Given the description of an element on the screen output the (x, y) to click on. 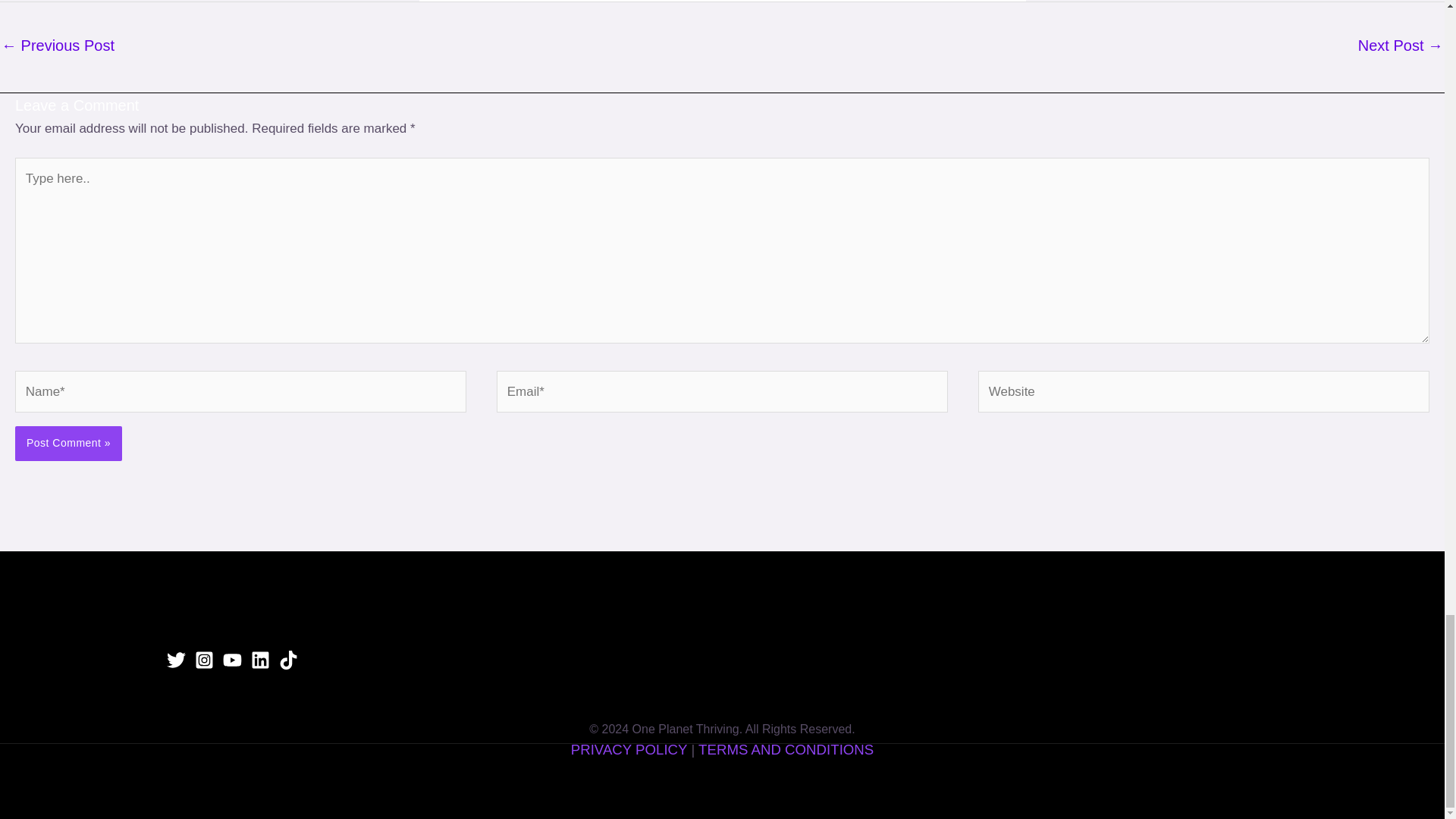
TERMS AND CONDITIONS (785, 749)
PRIVACY POLICY (630, 749)
Sylvania Wilderness Winter Camping (58, 47)
